Given the description of an element on the screen output the (x, y) to click on. 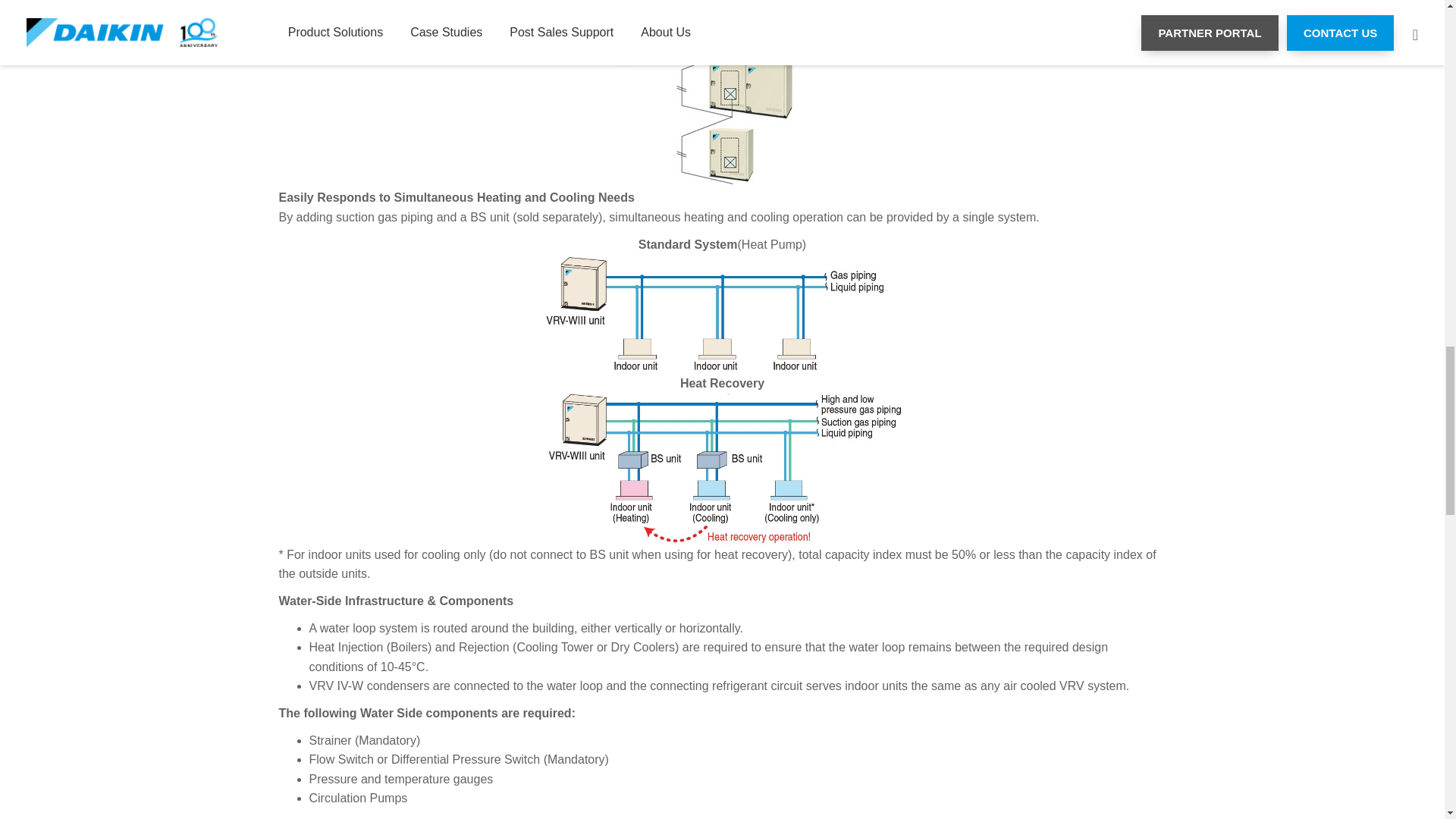
Heat Recovery (722, 469)
Standard (722, 313)
Centralised interlocking function (721, 94)
